Given the description of an element on the screen output the (x, y) to click on. 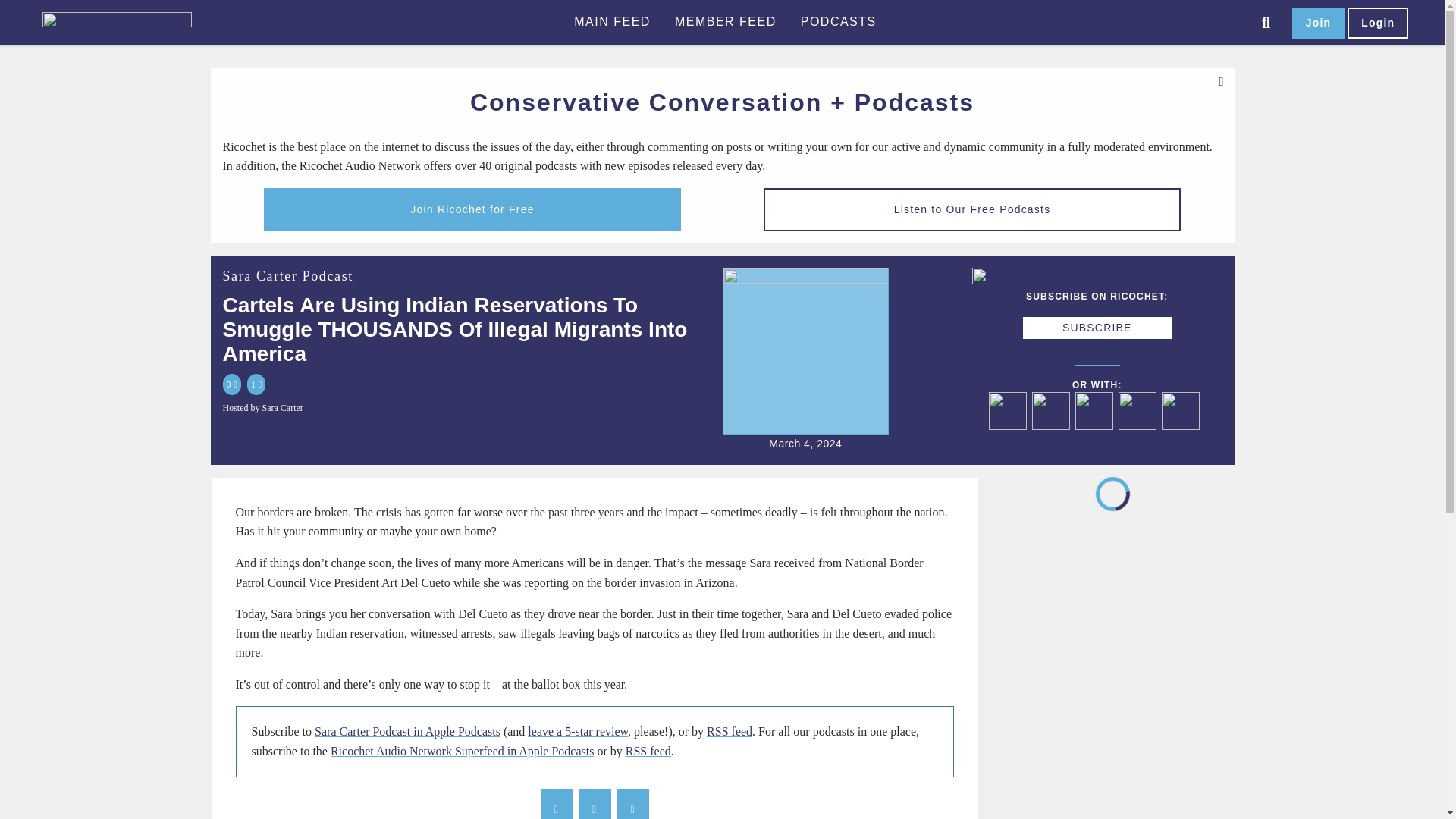
Share on Twitter. (594, 804)
Share on Facebook. (556, 804)
Subscribe to Sara Carter Podcast through Stitcher (1096, 426)
MAIN FEED (611, 22)
Subscribe to Sara Carter Podcast through Apple Podcasts (1010, 426)
Ricochet Home Page (141, 22)
Subscribe to Sara Carter Podcast through Spotify (1053, 426)
PODCASTS (838, 22)
Sara Carter Podcast (287, 275)
Download this episode of Sara Carter Podcast (1183, 426)
